Given the description of an element on the screen output the (x, y) to click on. 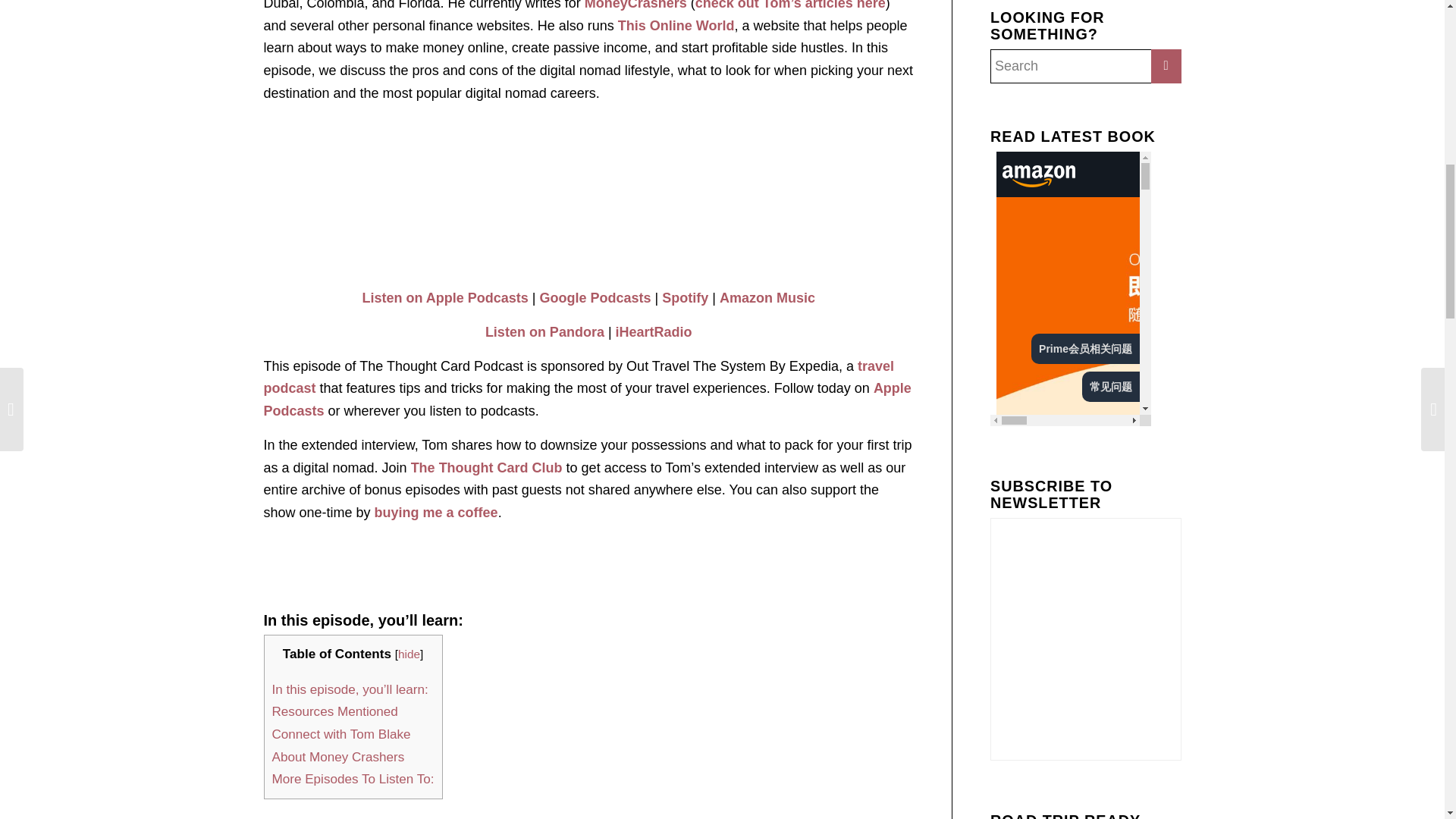
Embed Player (588, 192)
